Given the description of an element on the screen output the (x, y) to click on. 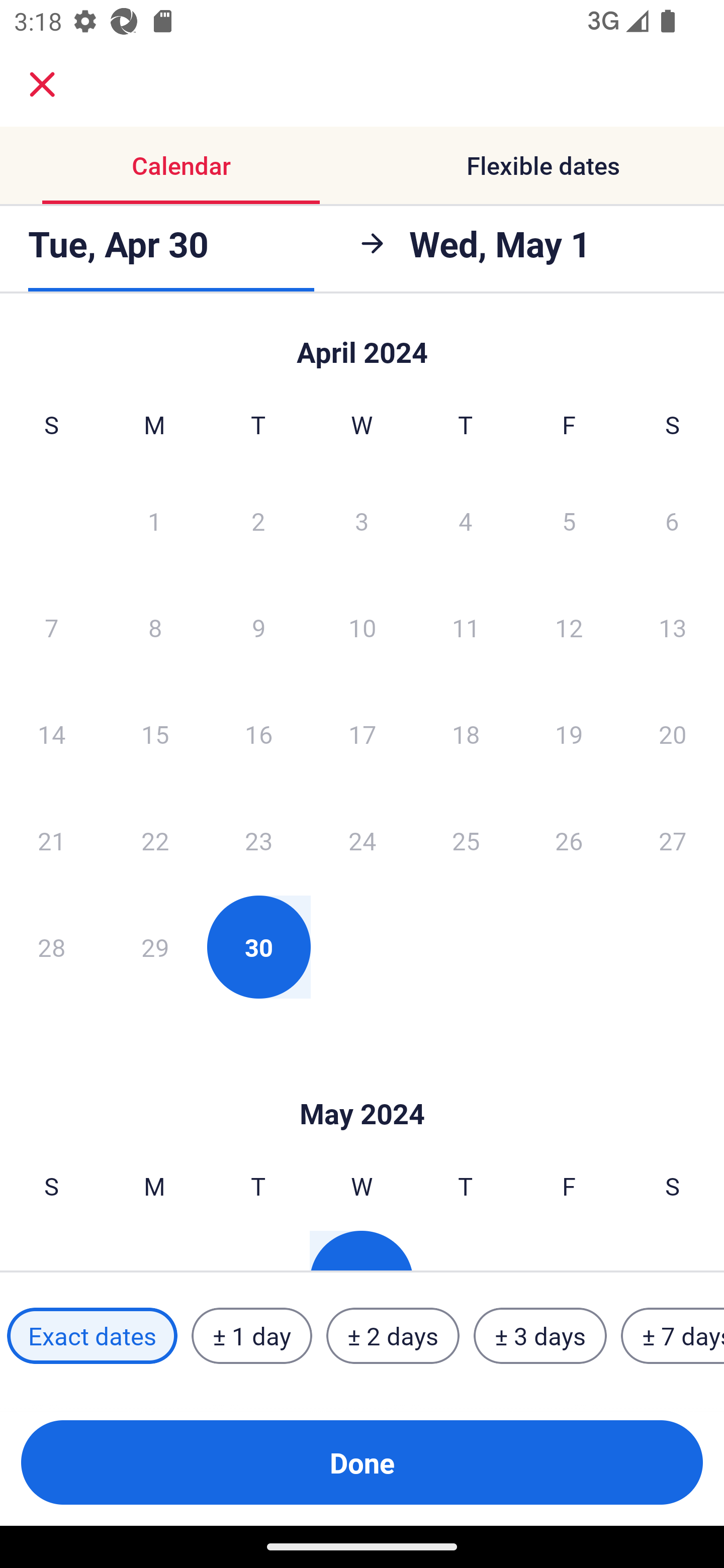
close. (42, 84)
Flexible dates (542, 164)
Skip to Done (362, 343)
1 Monday, April 1, 2024 (154, 520)
2 Tuesday, April 2, 2024 (257, 520)
3 Wednesday, April 3, 2024 (361, 520)
4 Thursday, April 4, 2024 (465, 520)
5 Friday, April 5, 2024 (568, 520)
6 Saturday, April 6, 2024 (672, 520)
7 Sunday, April 7, 2024 (51, 626)
8 Monday, April 8, 2024 (155, 626)
9 Tuesday, April 9, 2024 (258, 626)
10 Wednesday, April 10, 2024 (362, 626)
11 Thursday, April 11, 2024 (465, 626)
12 Friday, April 12, 2024 (569, 626)
13 Saturday, April 13, 2024 (672, 626)
14 Sunday, April 14, 2024 (51, 733)
15 Monday, April 15, 2024 (155, 733)
16 Tuesday, April 16, 2024 (258, 733)
17 Wednesday, April 17, 2024 (362, 733)
18 Thursday, April 18, 2024 (465, 733)
19 Friday, April 19, 2024 (569, 733)
20 Saturday, April 20, 2024 (672, 733)
21 Sunday, April 21, 2024 (51, 840)
22 Monday, April 22, 2024 (155, 840)
23 Tuesday, April 23, 2024 (258, 840)
24 Wednesday, April 24, 2024 (362, 840)
25 Thursday, April 25, 2024 (465, 840)
26 Friday, April 26, 2024 (569, 840)
27 Saturday, April 27, 2024 (672, 840)
28 Sunday, April 28, 2024 (51, 946)
29 Monday, April 29, 2024 (155, 946)
Skip to Done (362, 1083)
Exact dates (92, 1335)
± 1 day (251, 1335)
± 2 days (392, 1335)
± 3 days (539, 1335)
± 7 days (672, 1335)
Done (361, 1462)
